Given the description of an element on the screen output the (x, y) to click on. 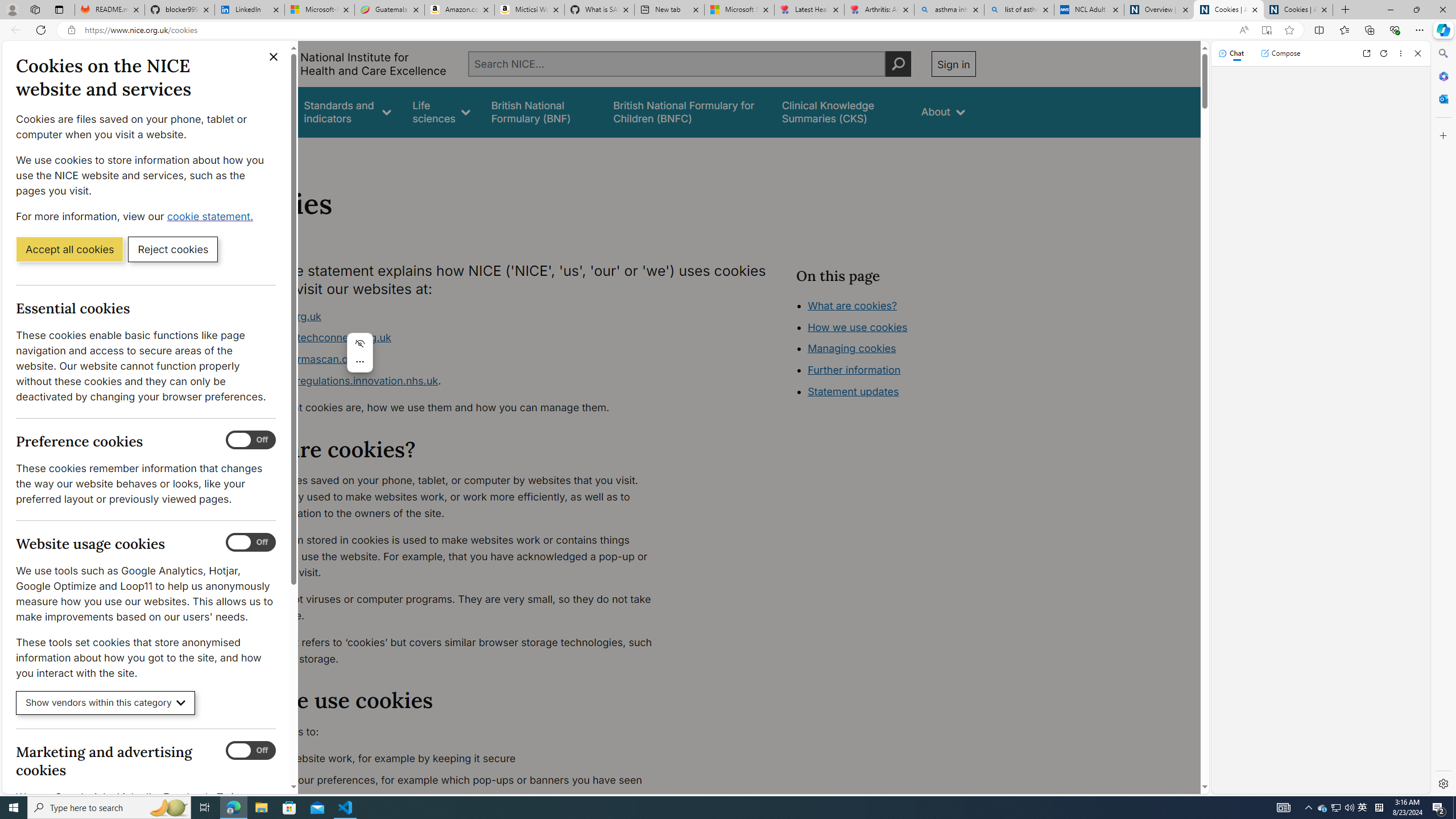
Marketing and advertising cookies (250, 750)
Reject cookies (173, 248)
Arthritis: Ask Health Professionals (879, 9)
